Given the description of an element on the screen output the (x, y) to click on. 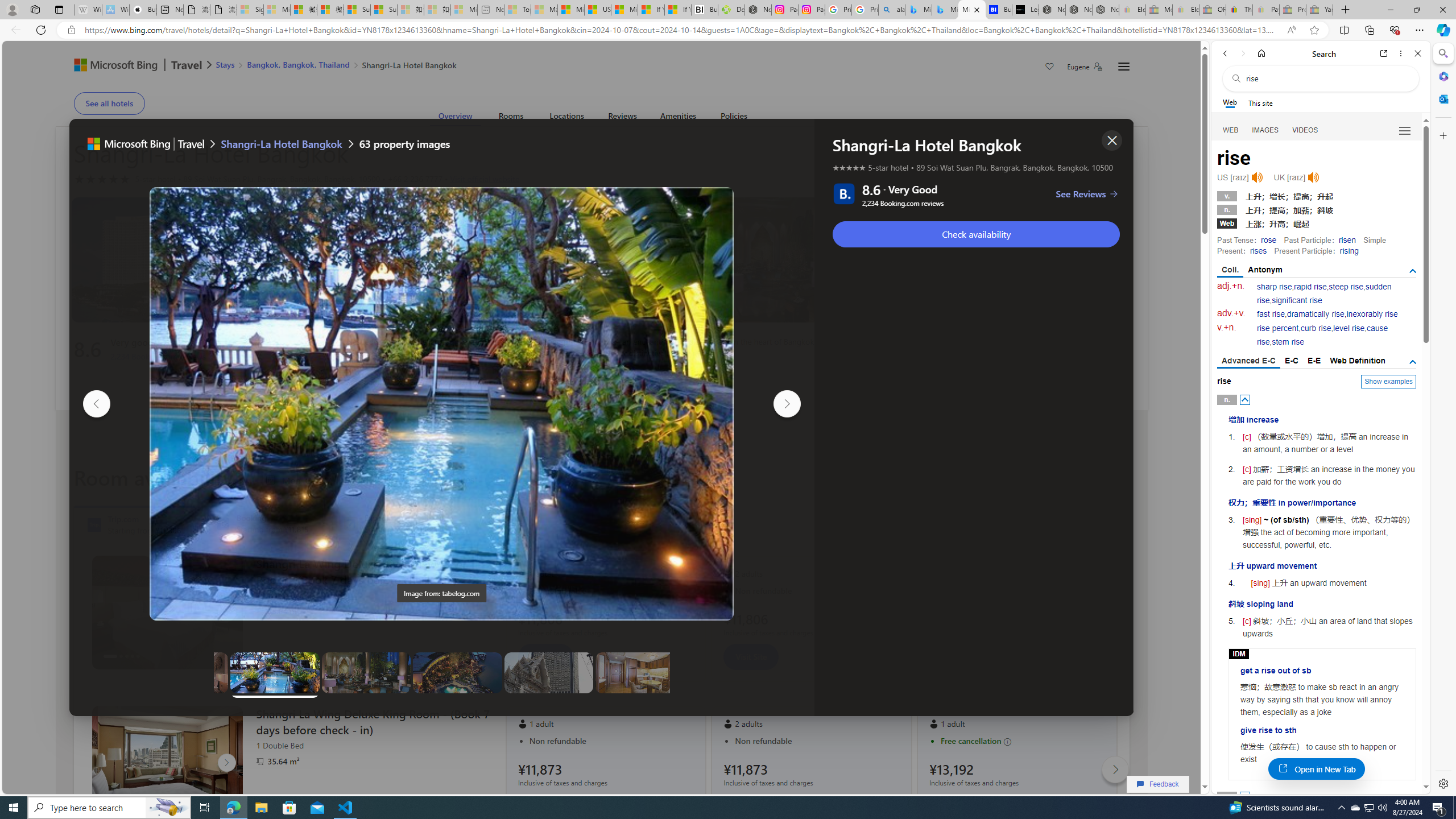
Coll. (1230, 270)
rose (1268, 239)
alabama high school quarterback dies - Search (891, 9)
significant rise (1296, 300)
